Given the description of an element on the screen output the (x, y) to click on. 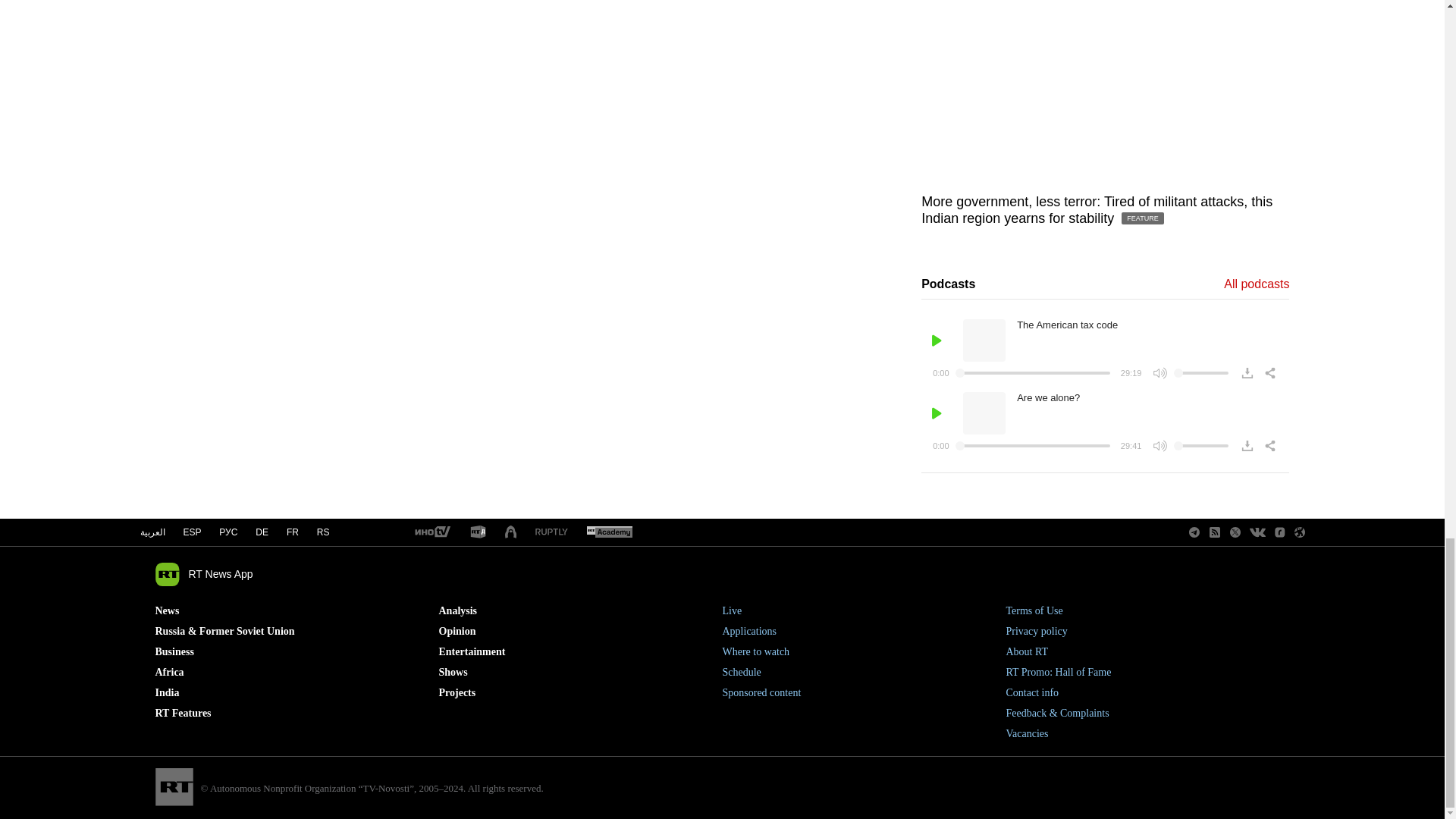
RT  (551, 532)
RT  (431, 532)
RT  (608, 532)
RT  (478, 532)
